Given the description of an element on the screen output the (x, y) to click on. 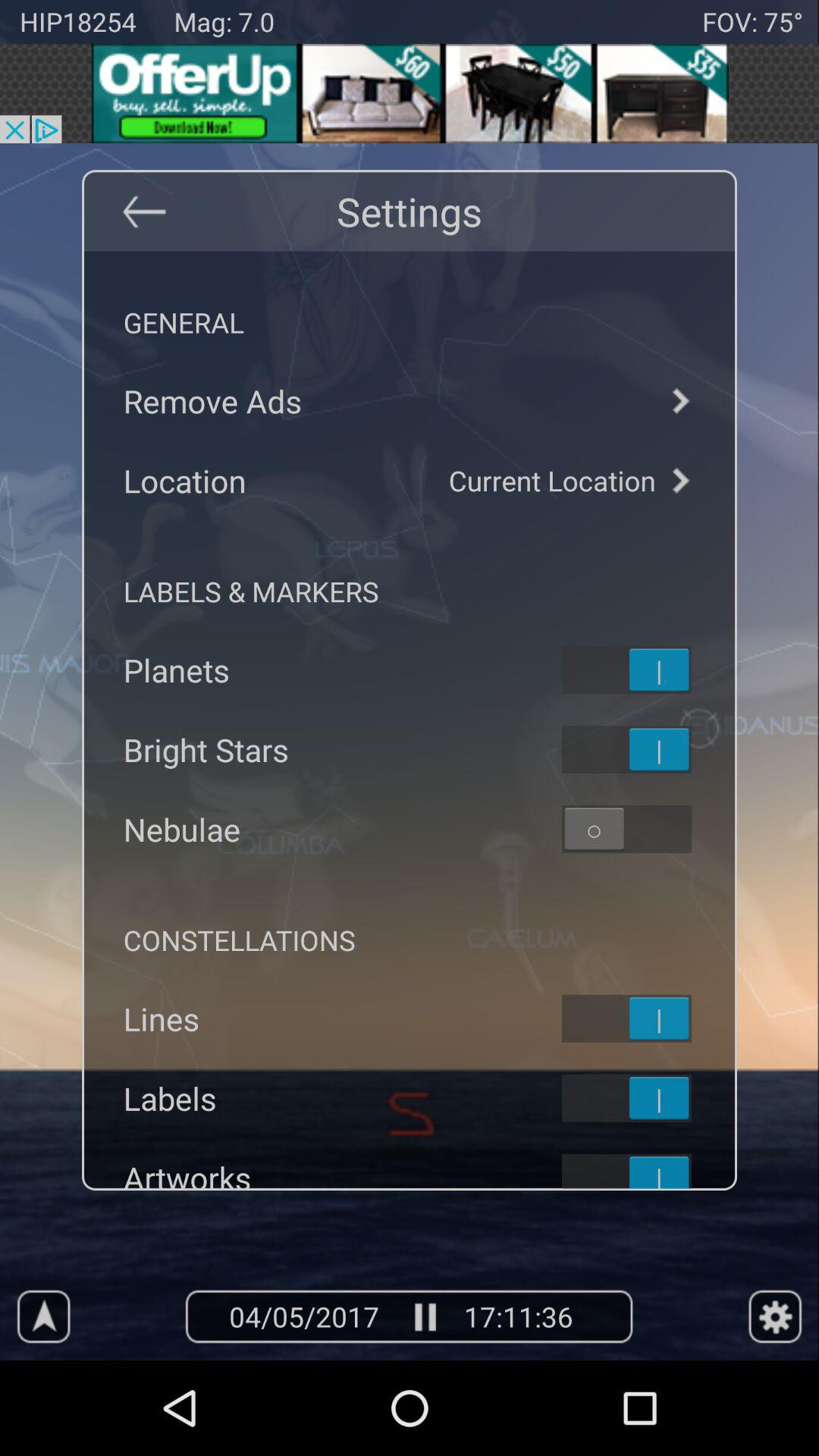
toggles nebulae on the settings (646, 829)
